Given the description of an element on the screen output the (x, y) to click on. 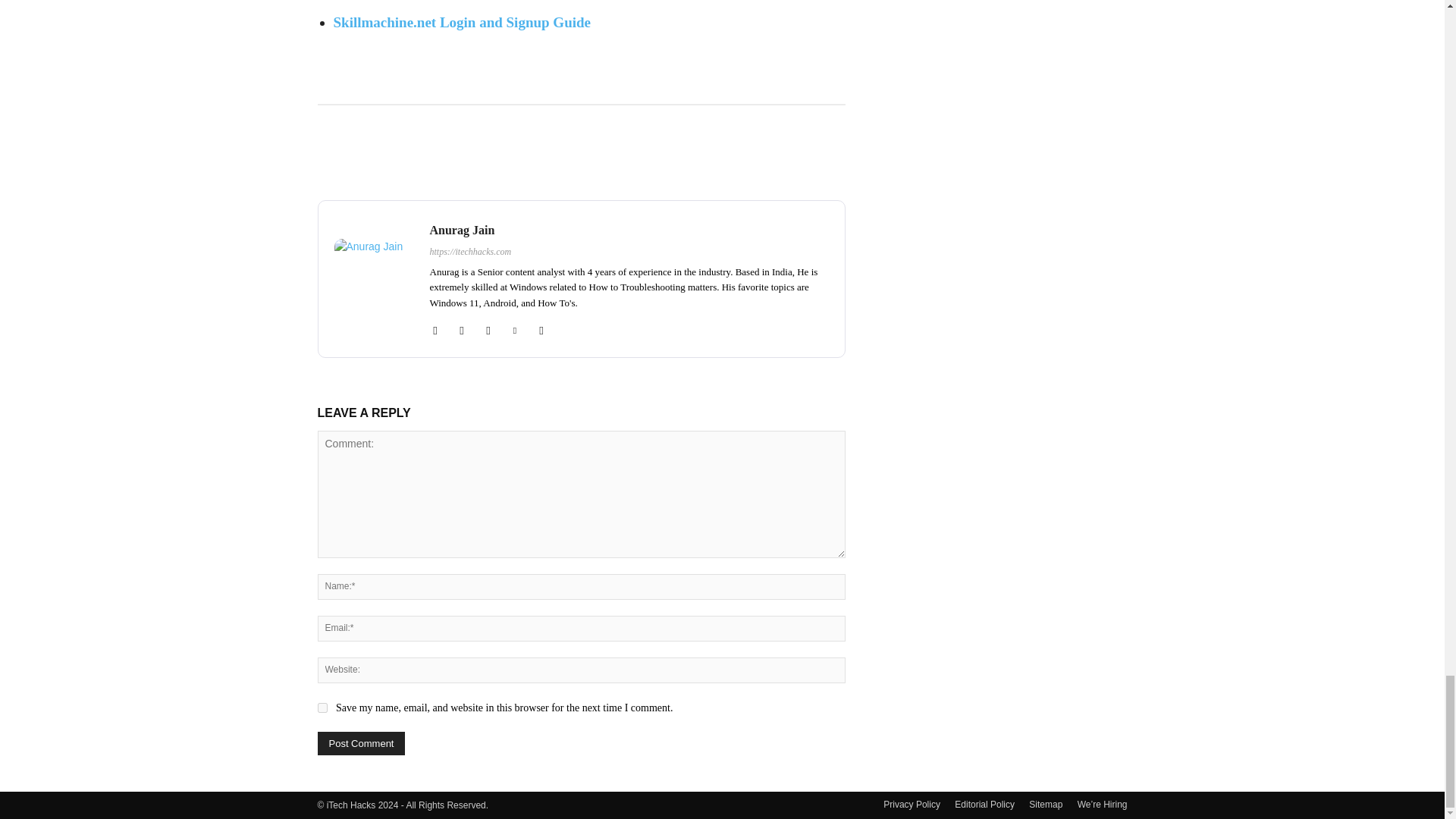
yes (321, 707)
Post Comment (360, 743)
